Given the description of an element on the screen output the (x, y) to click on. 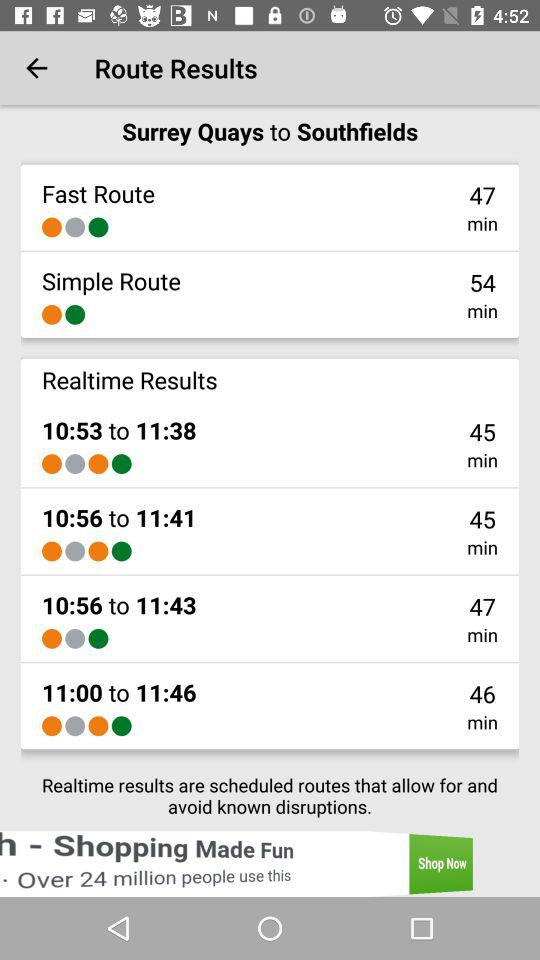
turn off the icon above realtime results are (75, 726)
